Given the description of an element on the screen output the (x, y) to click on. 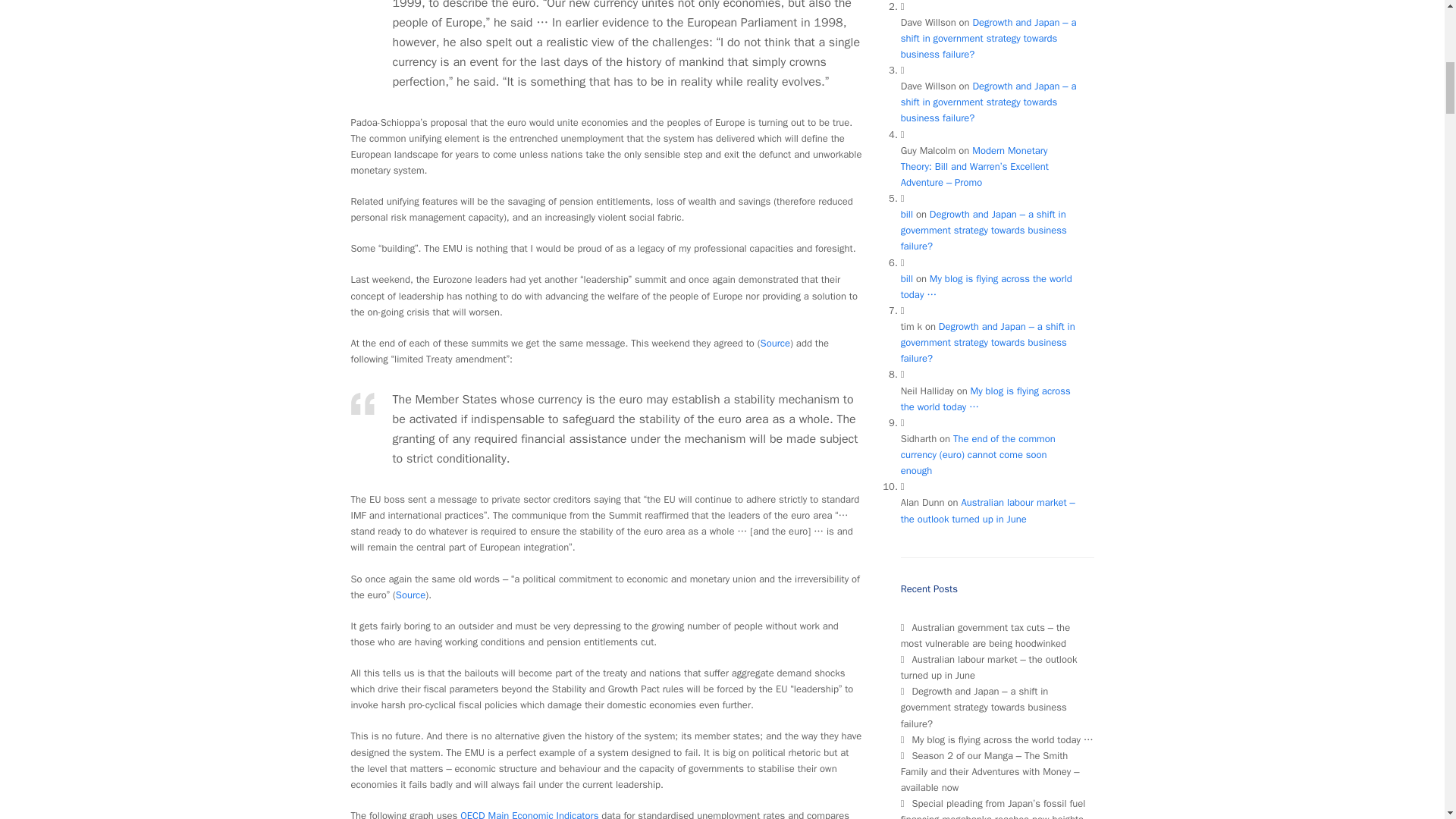
Source (775, 342)
OECD Main Economic Indicators (529, 814)
Source (410, 594)
